Given the description of an element on the screen output the (x, y) to click on. 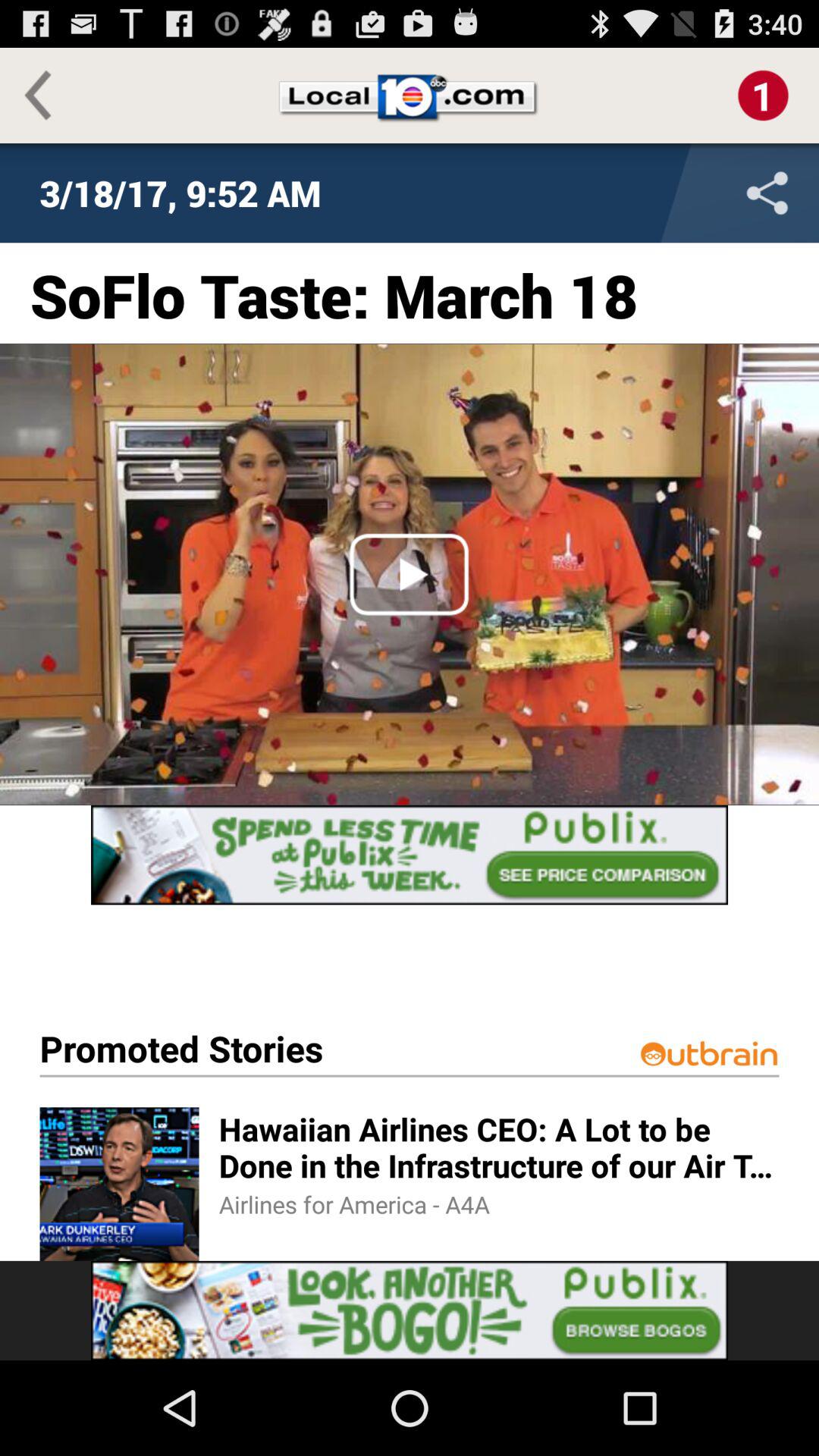
share the file (667, 192)
